Given the description of an element on the screen output the (x, y) to click on. 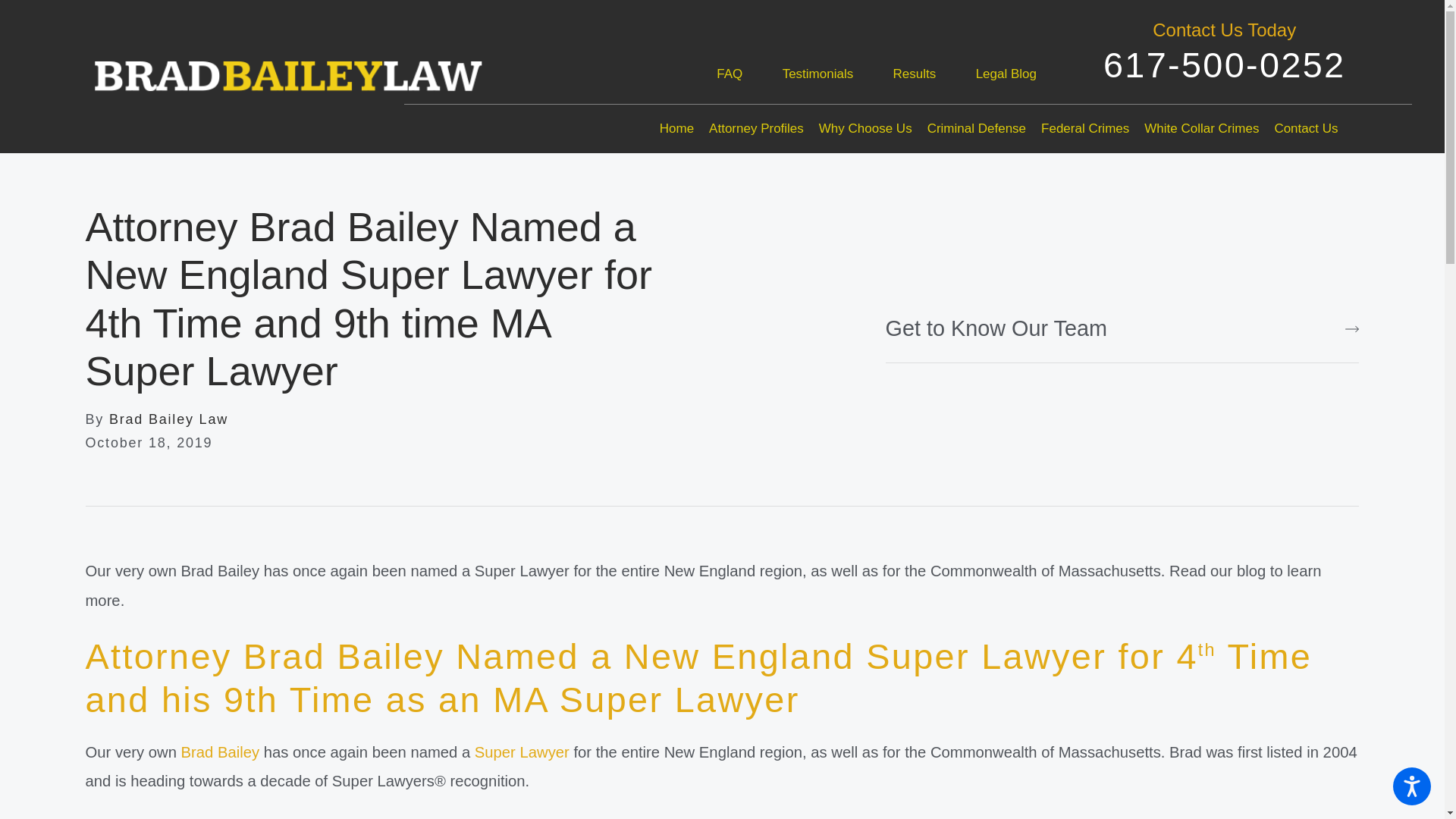
Why Choose Us (865, 128)
Legal Blog (1005, 73)
Criminal Defense (976, 128)
Testimonials (818, 73)
Brad Bailey Law (207, 69)
Open the accessibility options menu (1412, 786)
617-500-0252 (1224, 65)
Attorney Profiles (756, 128)
FAQ (729, 73)
Results (914, 73)
